Given the description of an element on the screen output the (x, y) to click on. 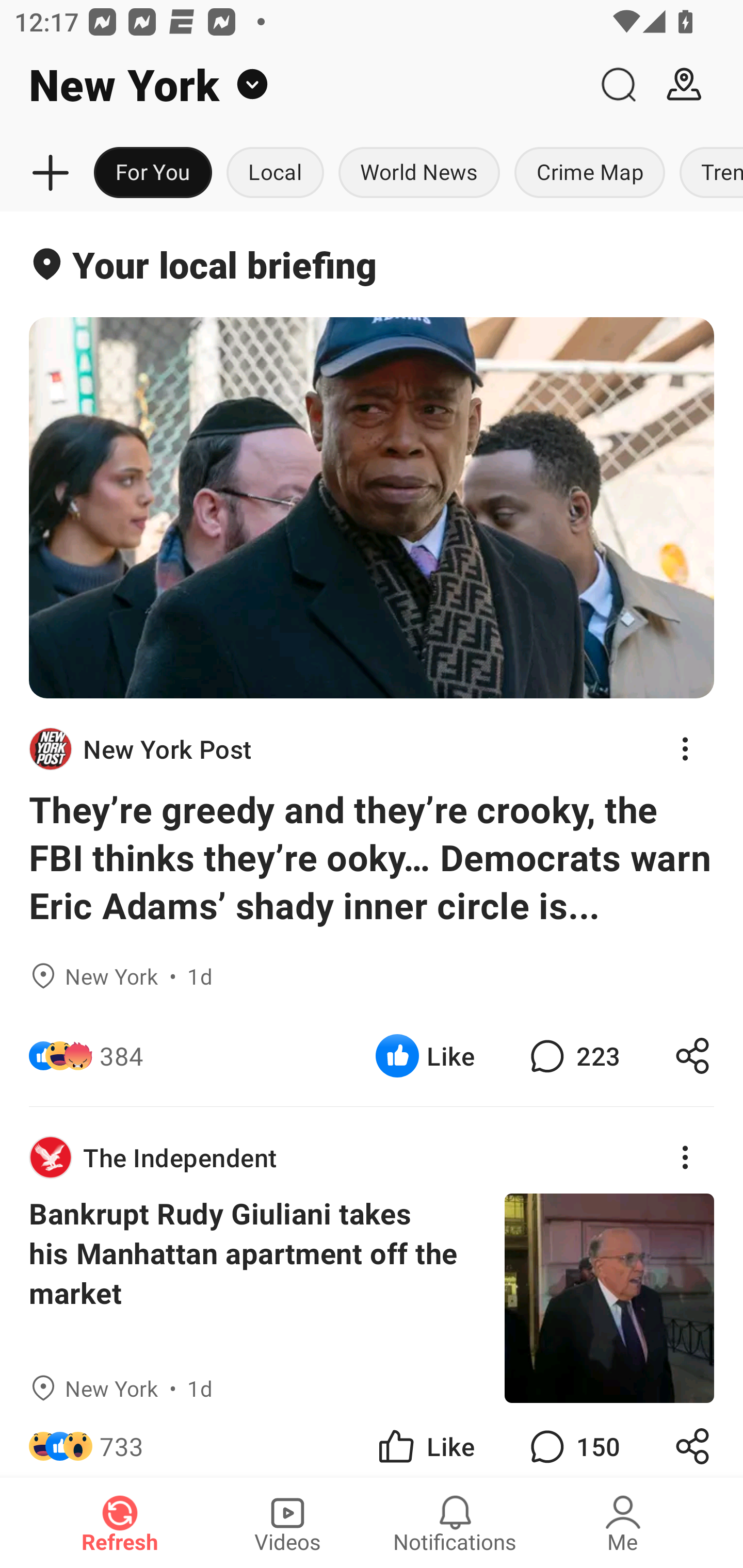
New York (292, 84)
For You (152, 172)
Local (275, 172)
World News (419, 172)
Crime Map (589, 172)
384 (121, 1055)
Like (425, 1055)
223 (572, 1055)
733 (121, 1440)
Like (425, 1440)
150 (572, 1440)
Videos (287, 1522)
Notifications (455, 1522)
Me (622, 1522)
